Given the description of an element on the screen output the (x, y) to click on. 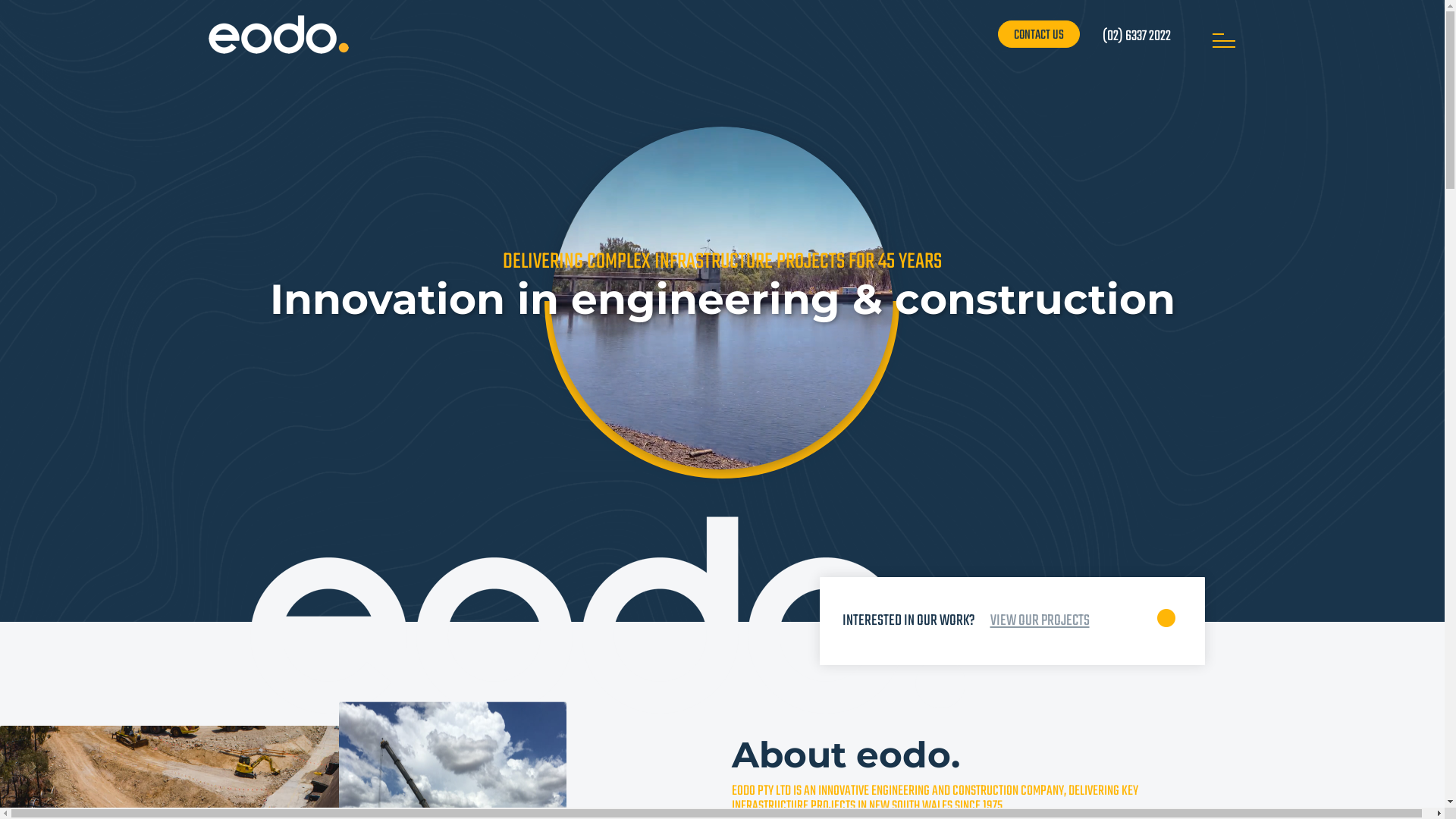
CONTACT US Element type: text (1038, 33)
(02) 6337 2022 Element type: text (1136, 35)
VIEW OUR PROJECTS Element type: text (1039, 620)
Search Element type: text (1134, 34)
